Given the description of an element on the screen output the (x, y) to click on. 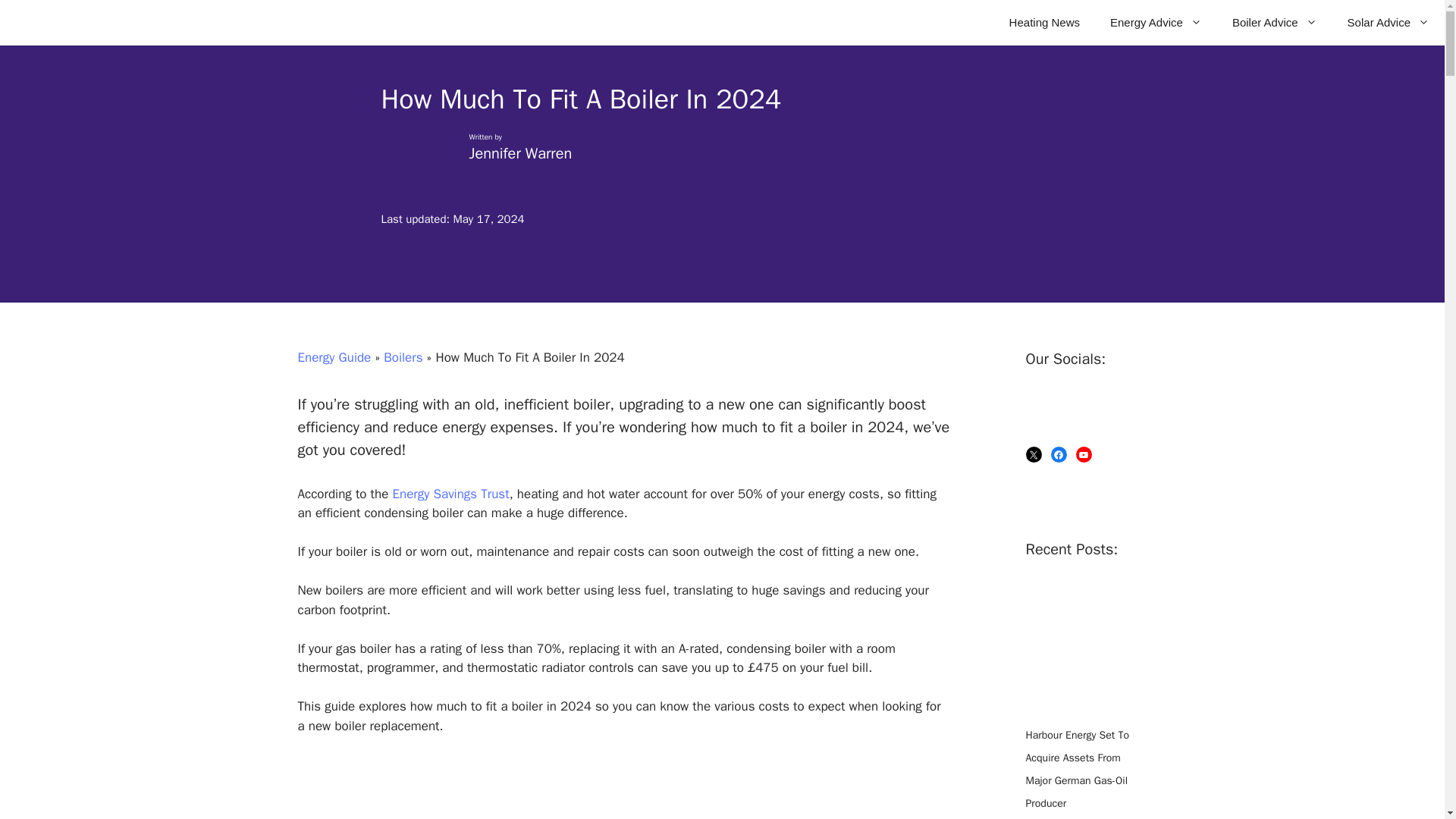
Boiler Advice (1274, 22)
Energy Advice (1155, 22)
Boilers (403, 357)
Jennifer Warren (520, 153)
Energy Guide (334, 357)
Energy Guide (77, 23)
Energy Savings Trust (449, 494)
Heating News (1044, 22)
